Given the description of an element on the screen output the (x, y) to click on. 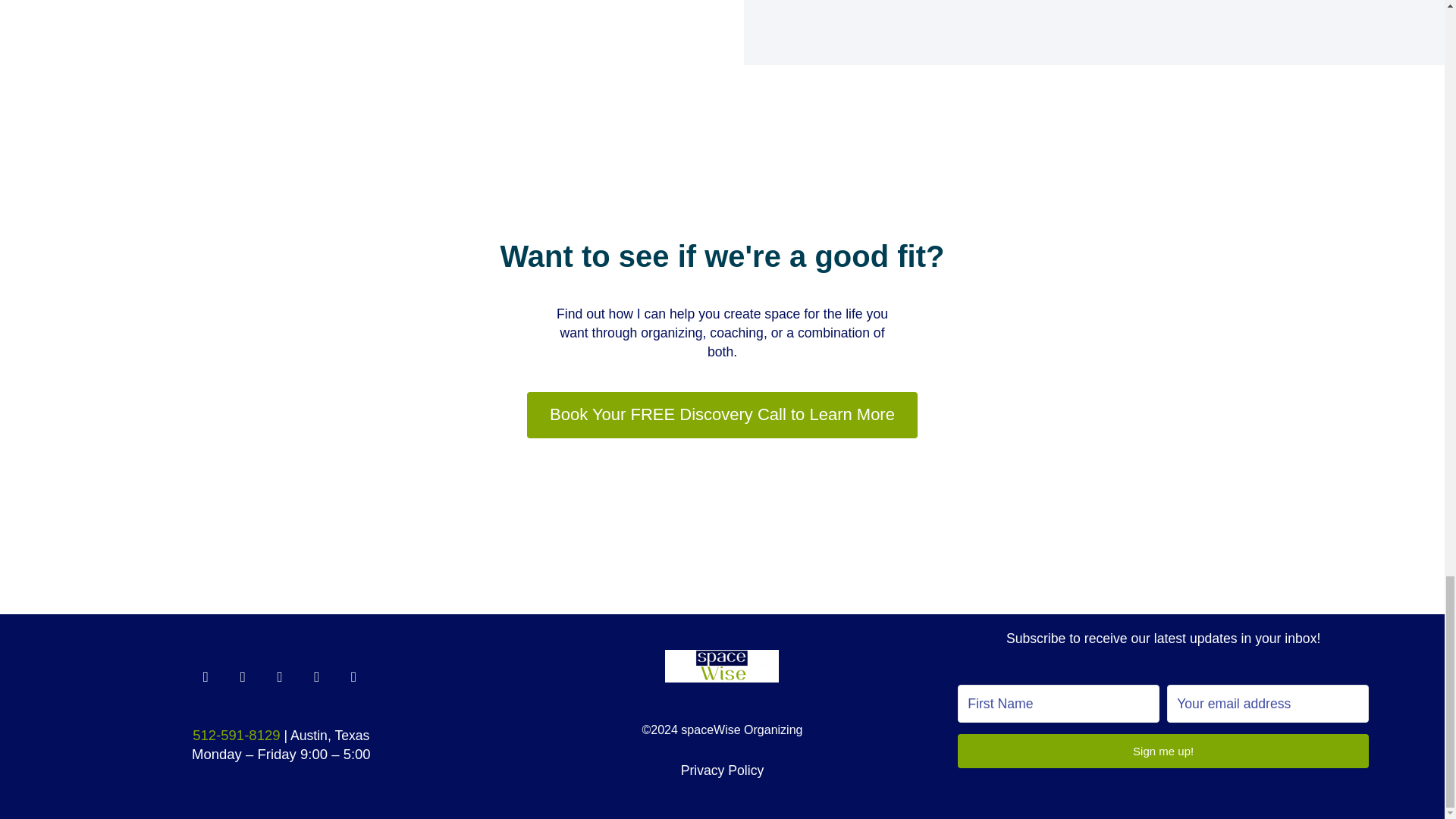
Book Your FREE Discovery Call to Learn More (722, 415)
Sign me up! (1163, 750)
Privacy Policy (722, 770)
512-591-8129 (235, 734)
